Given the description of an element on the screen output the (x, y) to click on. 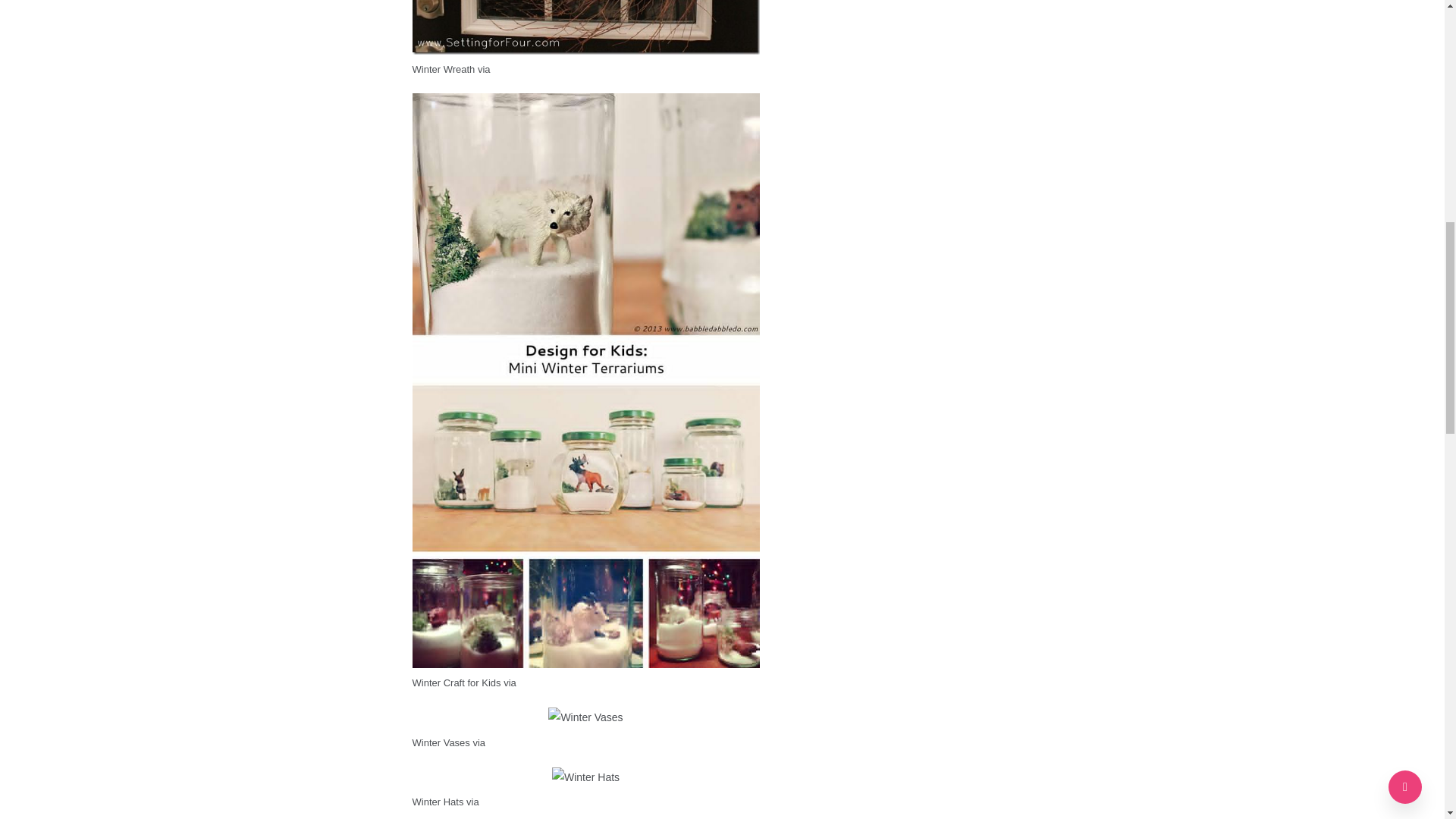
via (477, 742)
via (472, 801)
via (483, 69)
via (509, 682)
